Given the description of an element on the screen output the (x, y) to click on. 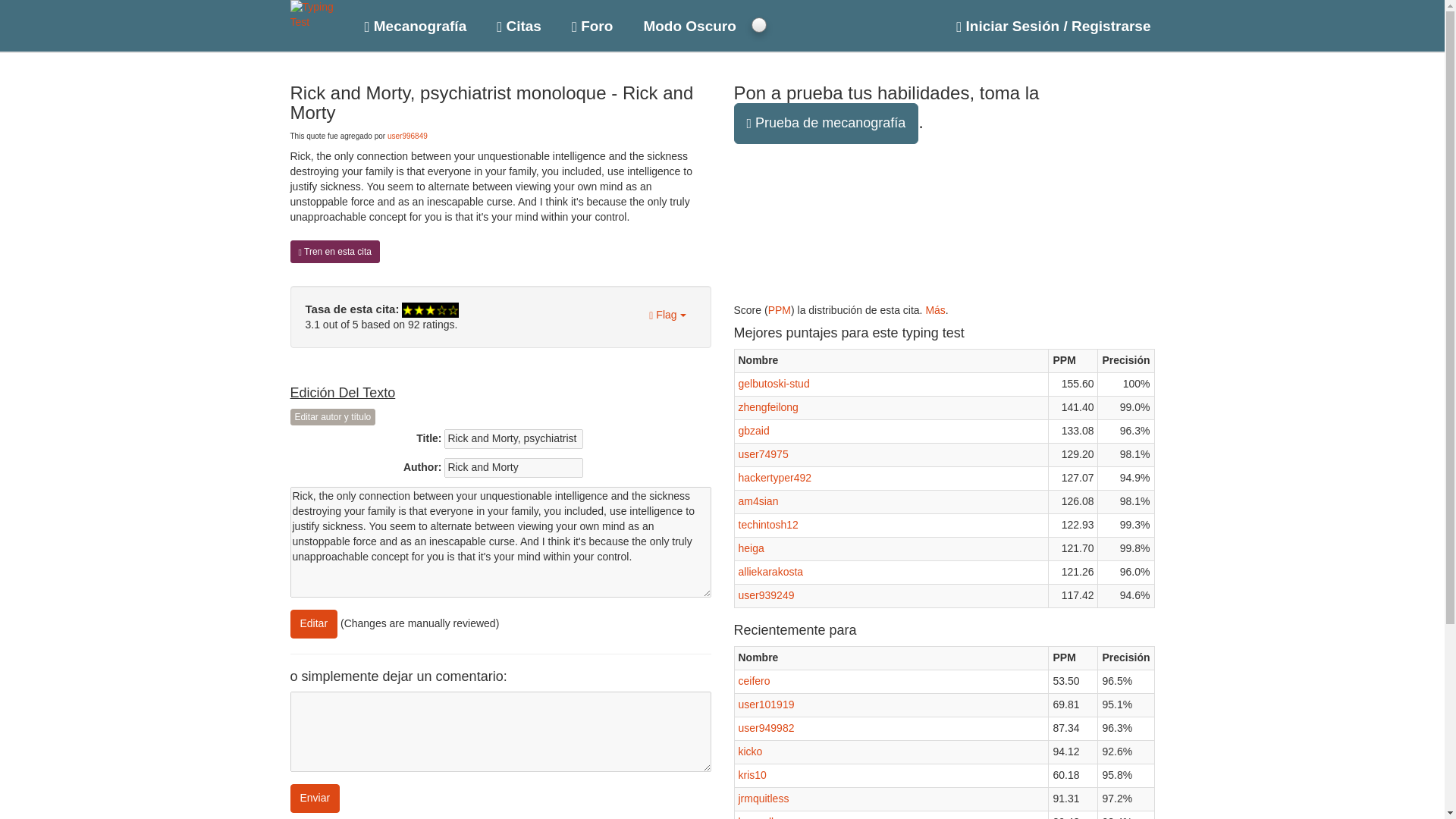
ceifero (754, 680)
Rick and Morty, psychiatrist monoloque (513, 438)
Enviar (314, 798)
kmccalla (758, 817)
kris10 (752, 775)
Foro (591, 22)
user939249 (766, 594)
Rick and Morty (513, 467)
Click on the star to rate (429, 309)
Modo Oscuro (689, 22)
